Given the description of an element on the screen output the (x, y) to click on. 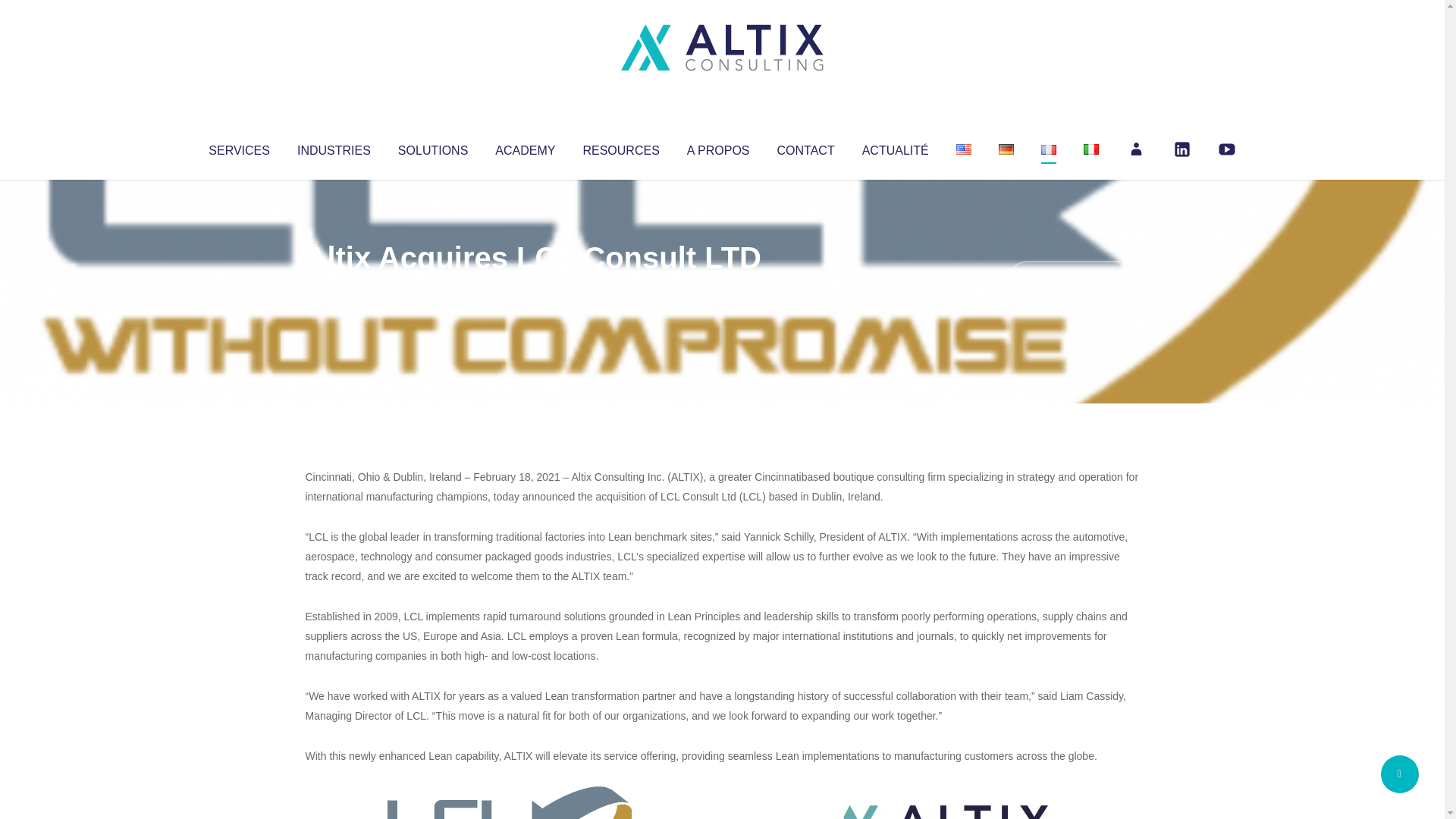
Articles par Altix (333, 287)
RESOURCES (620, 146)
Uncategorized (530, 287)
SERVICES (238, 146)
No Comments (1073, 278)
SOLUTIONS (432, 146)
A PROPOS (718, 146)
ACADEMY (524, 146)
Altix (333, 287)
INDUSTRIES (334, 146)
